Given the description of an element on the screen output the (x, y) to click on. 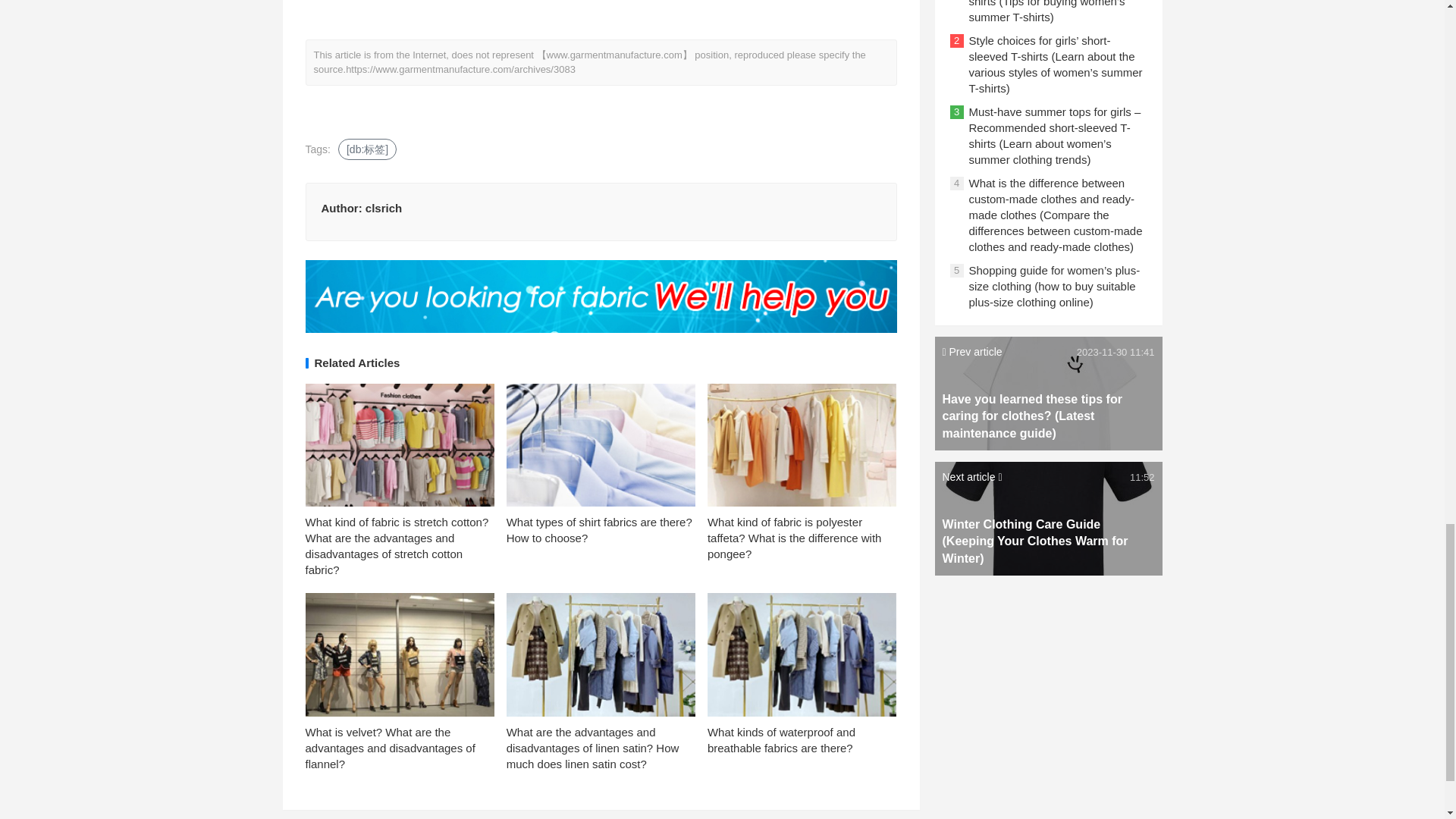
What types of shirt fabrics are there? How to choose? (599, 529)
What kinds of waterproof and breathable fabrics are there? (781, 739)
clsrich (383, 207)
